Given the description of an element on the screen output the (x, y) to click on. 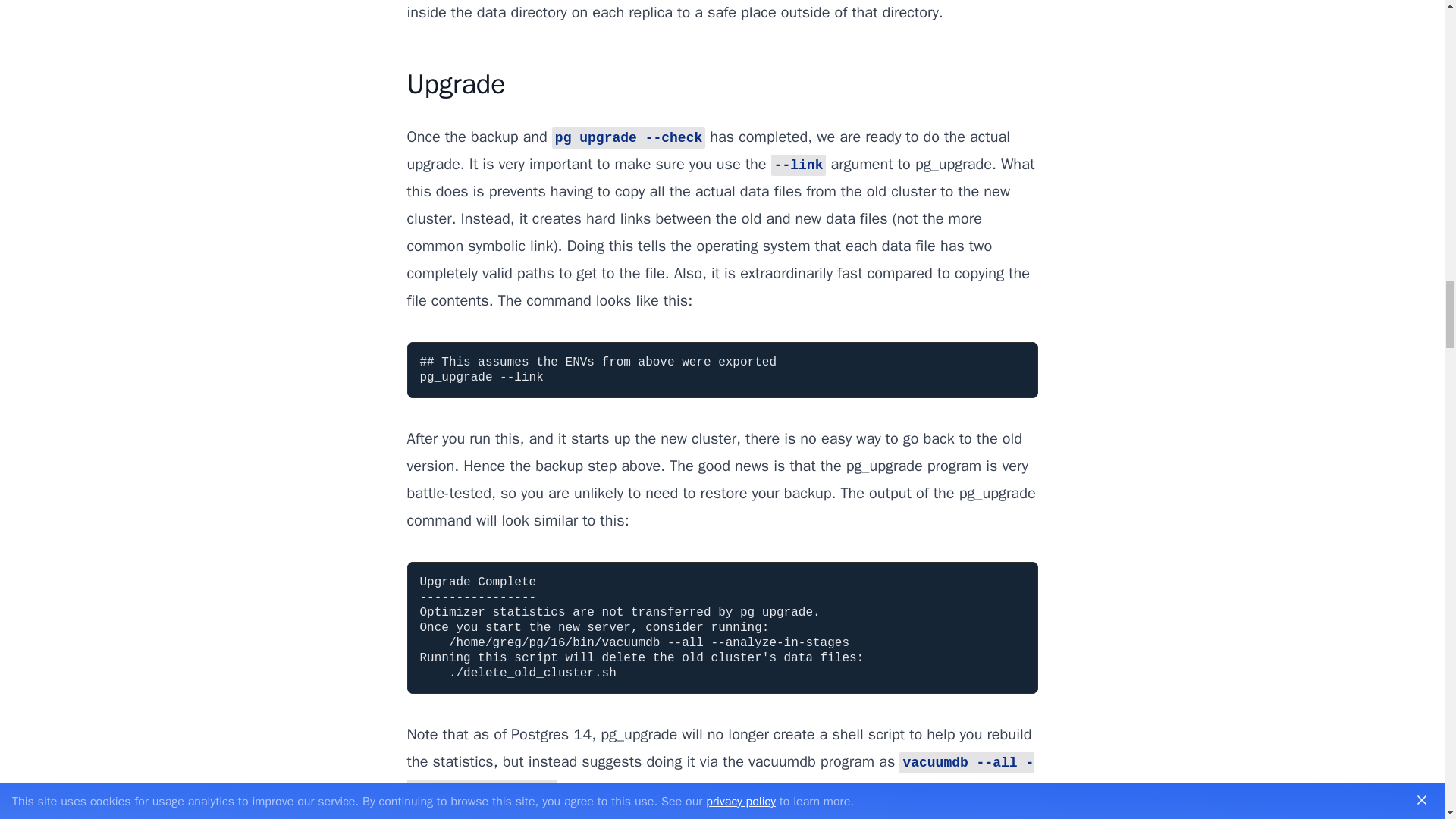
Upgrade (455, 83)
